Given the description of an element on the screen output the (x, y) to click on. 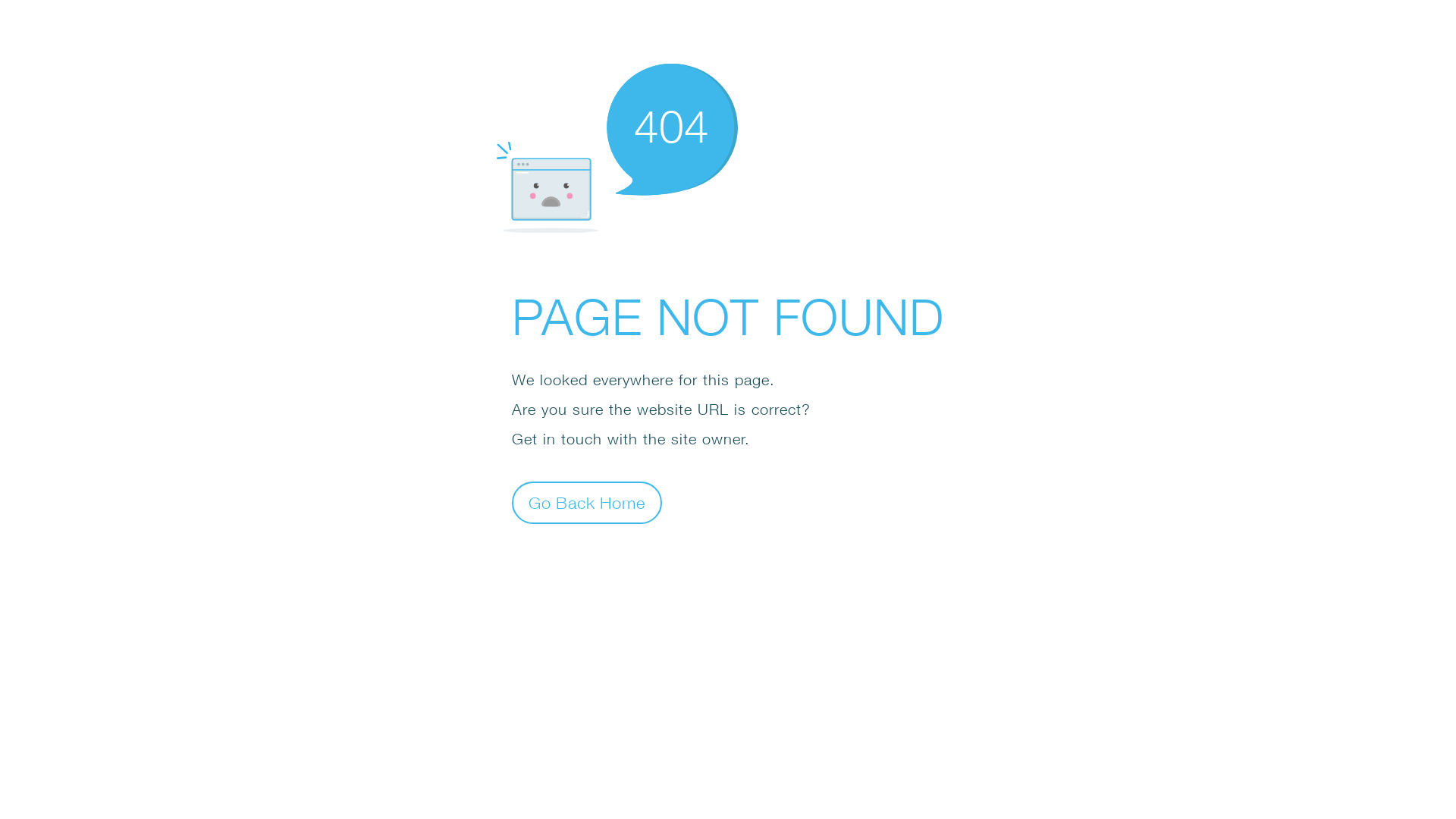
Go Back Home Element type: text (586, 502)
